Given the description of an element on the screen output the (x, y) to click on. 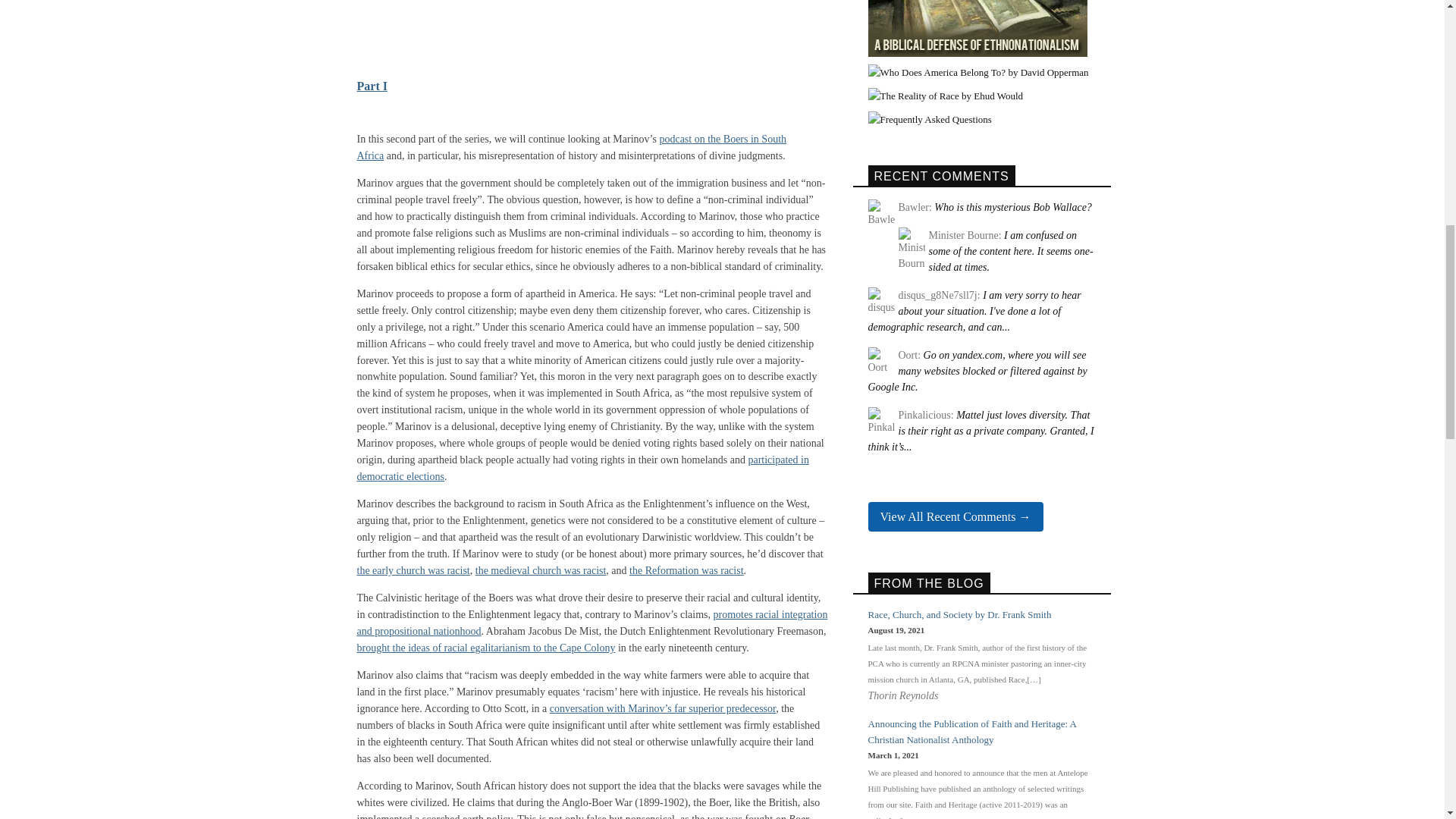
Posted on The Pincer Movement of Islamo-Feminism (980, 656)
Posted on Finis Dake on Racial Segregation (980, 476)
Posted on Great Places for White People to Live (973, 536)
Posted on Great Places for White People to Live (976, 596)
